Given the description of an element on the screen output the (x, y) to click on. 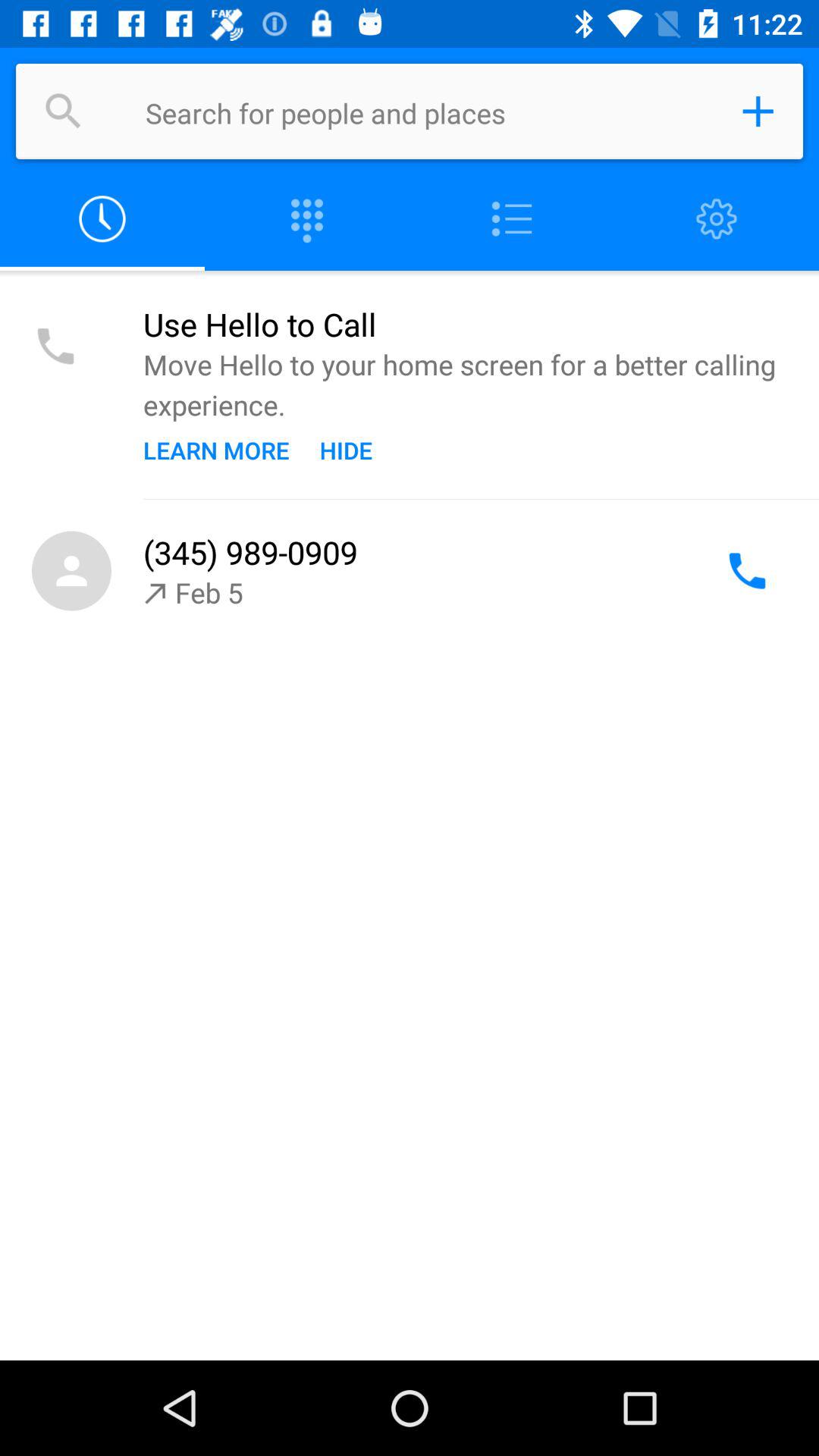
choose the item next to the learn more (345, 449)
